Given the description of an element on the screen output the (x, y) to click on. 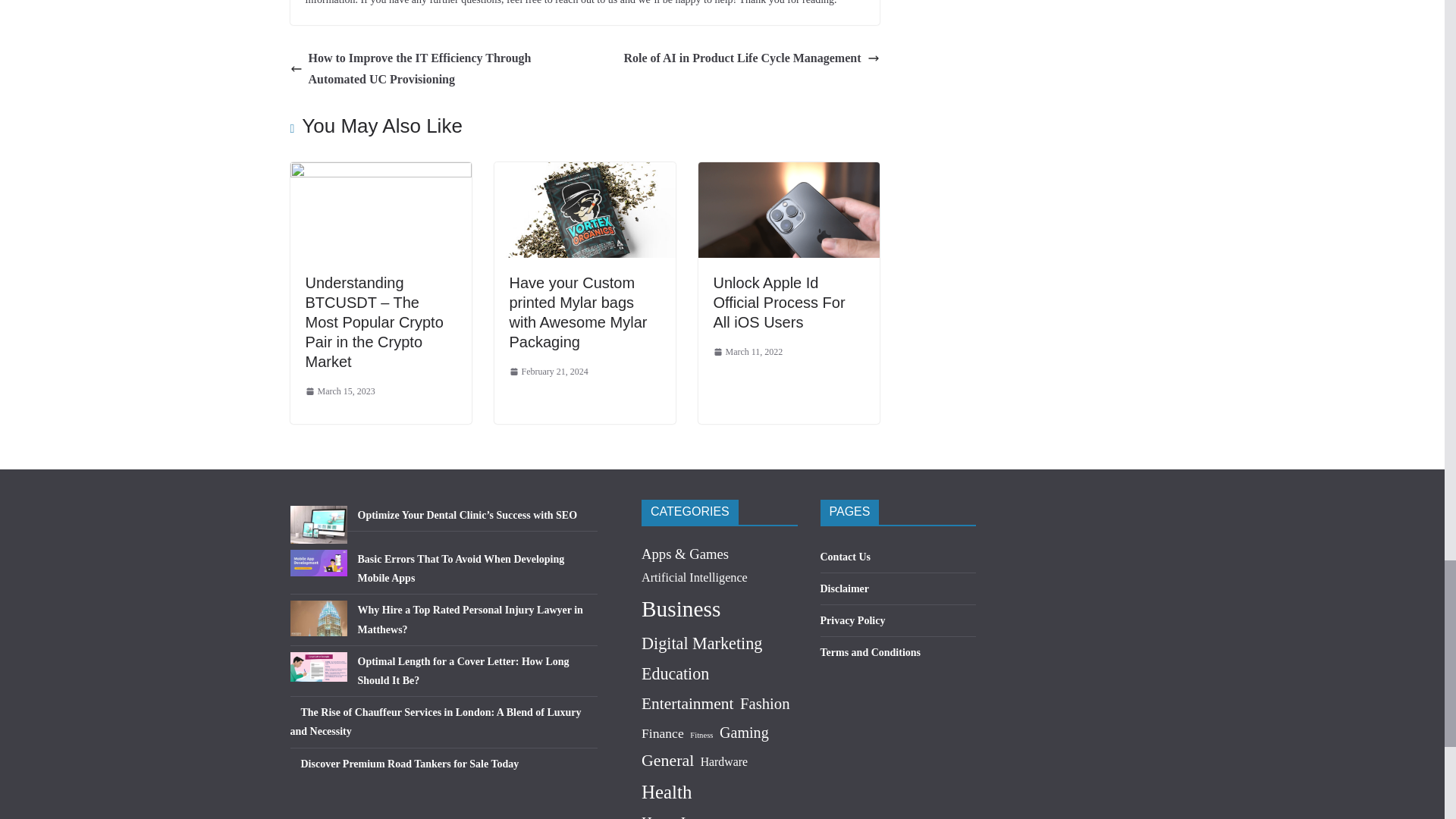
5:52 PM (548, 371)
Unlock Apple Id Official Process For All iOS Users (788, 172)
March 15, 2023 (339, 392)
9:33 PM (339, 392)
Role of AI in Product Life Cycle Management (751, 57)
